Given the description of an element on the screen output the (x, y) to click on. 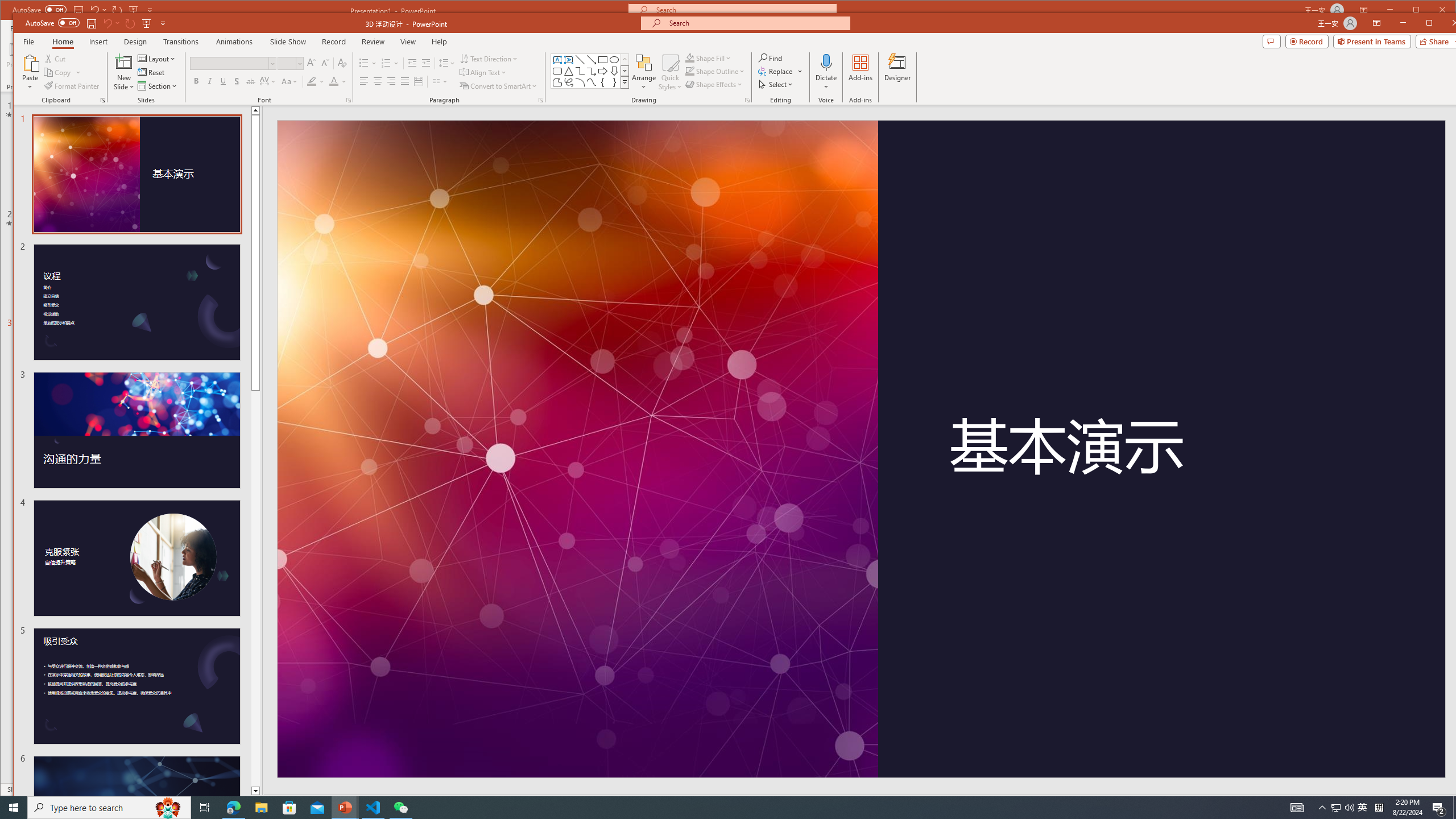
Spell Check  (65, 802)
